Given the description of an element on the screen output the (x, y) to click on. 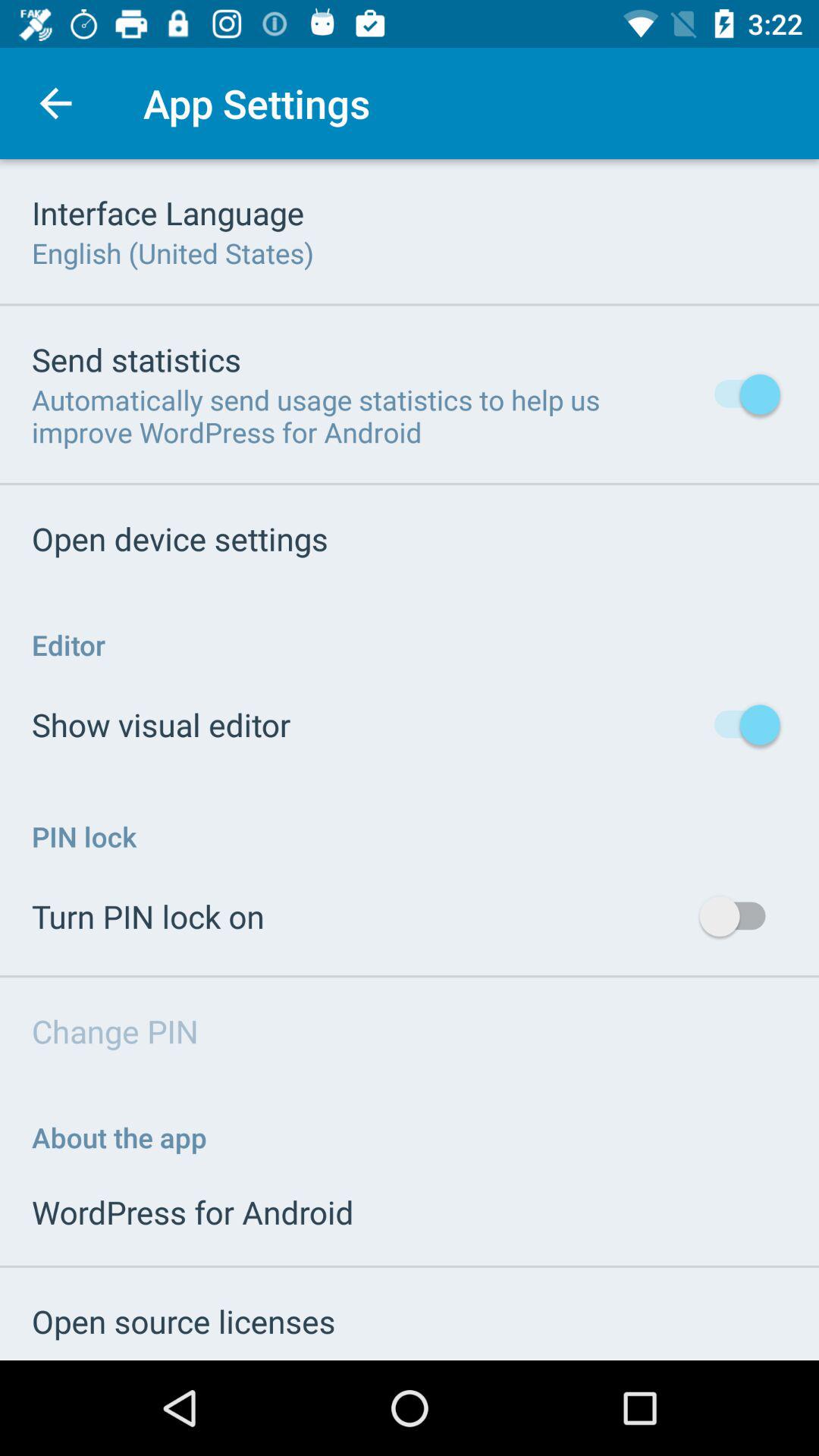
turn on item below the send statistics icon (361, 416)
